Given the description of an element on the screen output the (x, y) to click on. 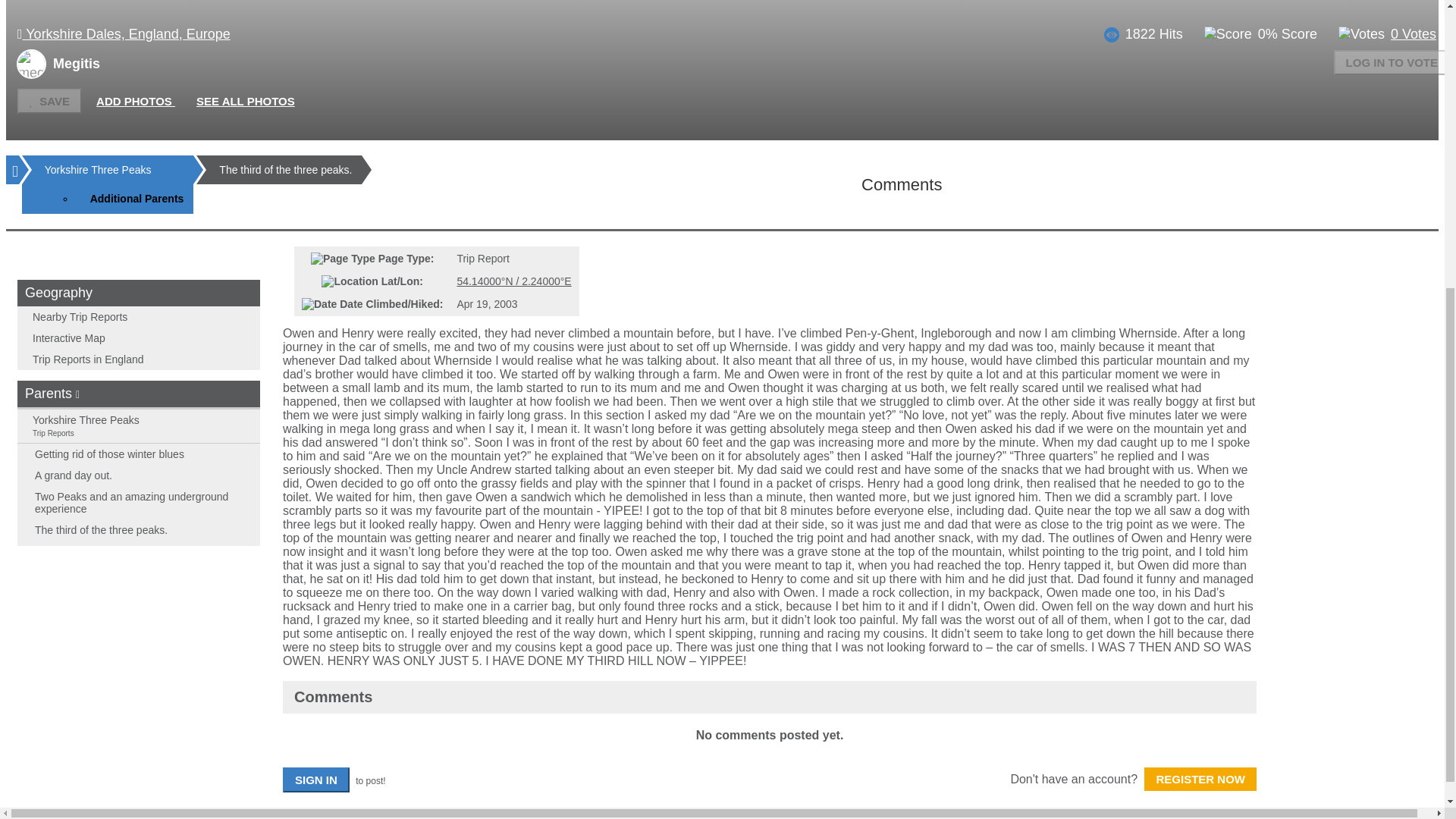
Comments (901, 183)
Page Type (343, 258)
Votes (1361, 34)
SIGN IN (315, 779)
Yorkshire Dales, England, Europe (123, 33)
LOG IN TO VOTE (1391, 62)
SEE ALL PHOTOS (245, 101)
Location (349, 281)
Score (1228, 34)
0 Votes (1412, 33)
Date (318, 304)
  SAVE (49, 100)
REGISTER NOW (1200, 779)
The third of the three peaks. (285, 169)
